Given the description of an element on the screen output the (x, y) to click on. 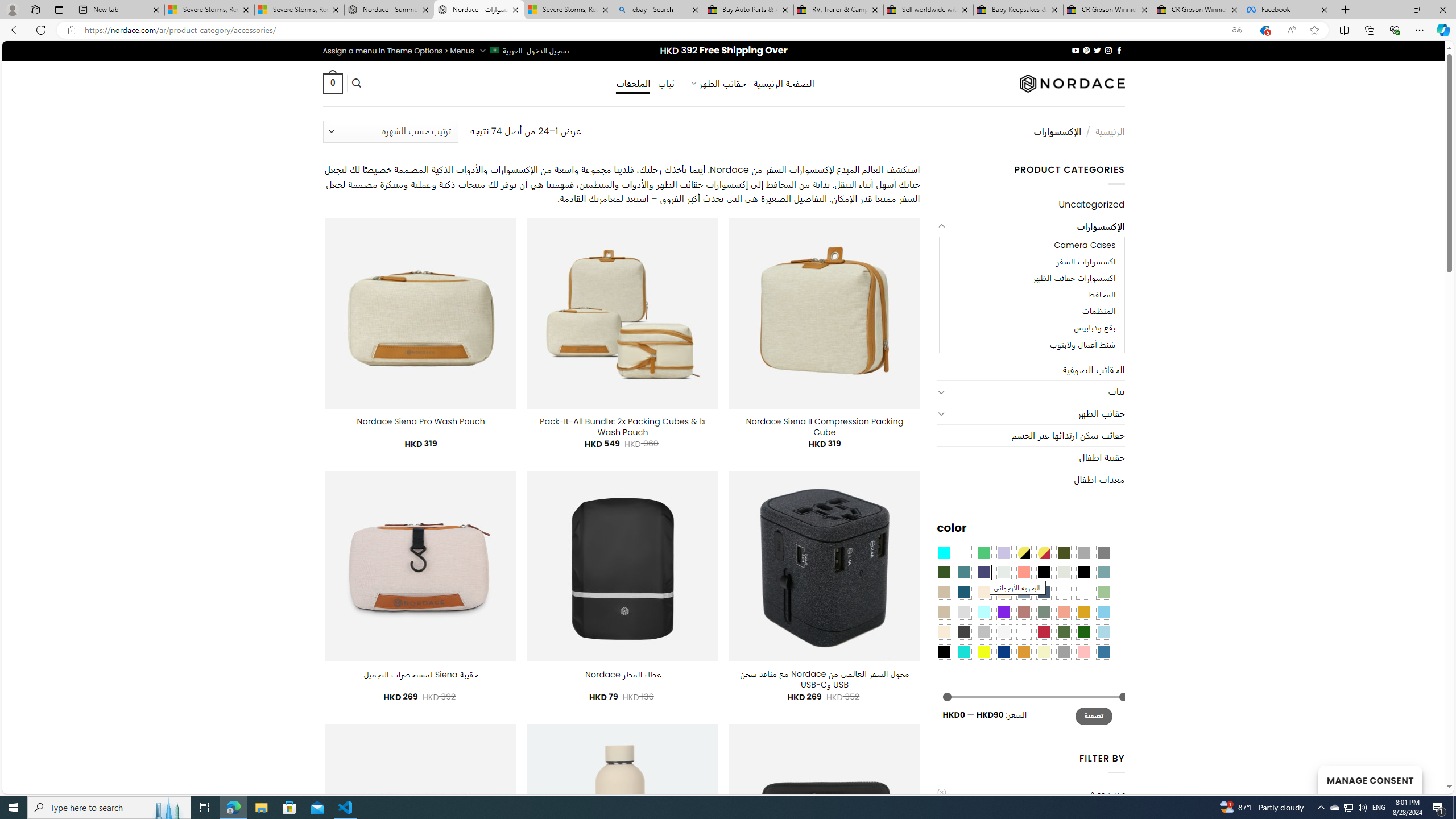
Light Purple (1003, 551)
Uncategorized (1030, 204)
Camera Cases (1031, 245)
Follow on Twitter (1096, 50)
Kelp (1063, 591)
Dull Nickle (1003, 572)
Camera Cases (1084, 245)
